Given the description of an element on the screen output the (x, y) to click on. 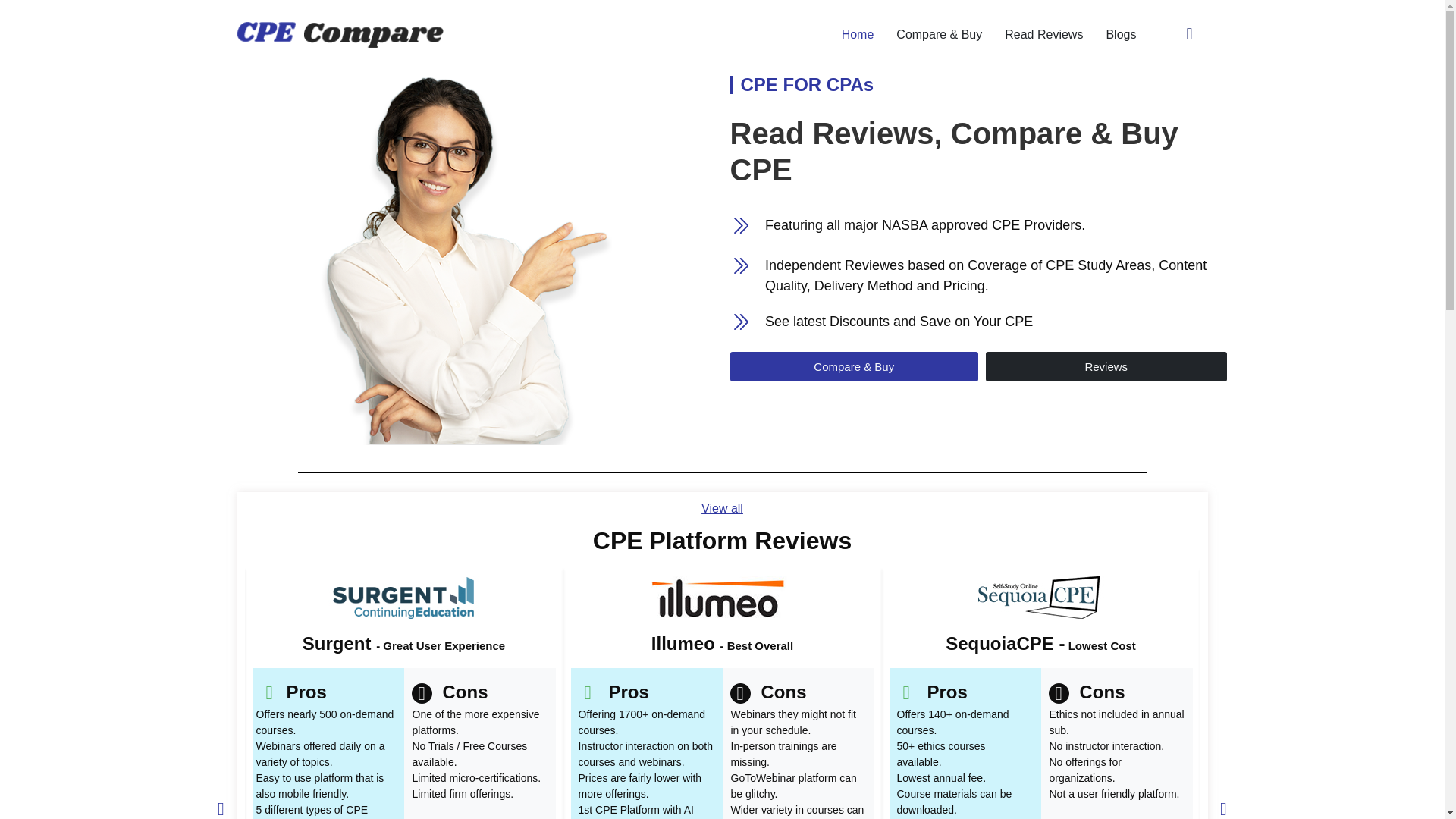
Reviews (1106, 366)
Home (857, 33)
Read Reviews (1043, 33)
View all (721, 508)
Blogs (1120, 33)
